Given the description of an element on the screen output the (x, y) to click on. 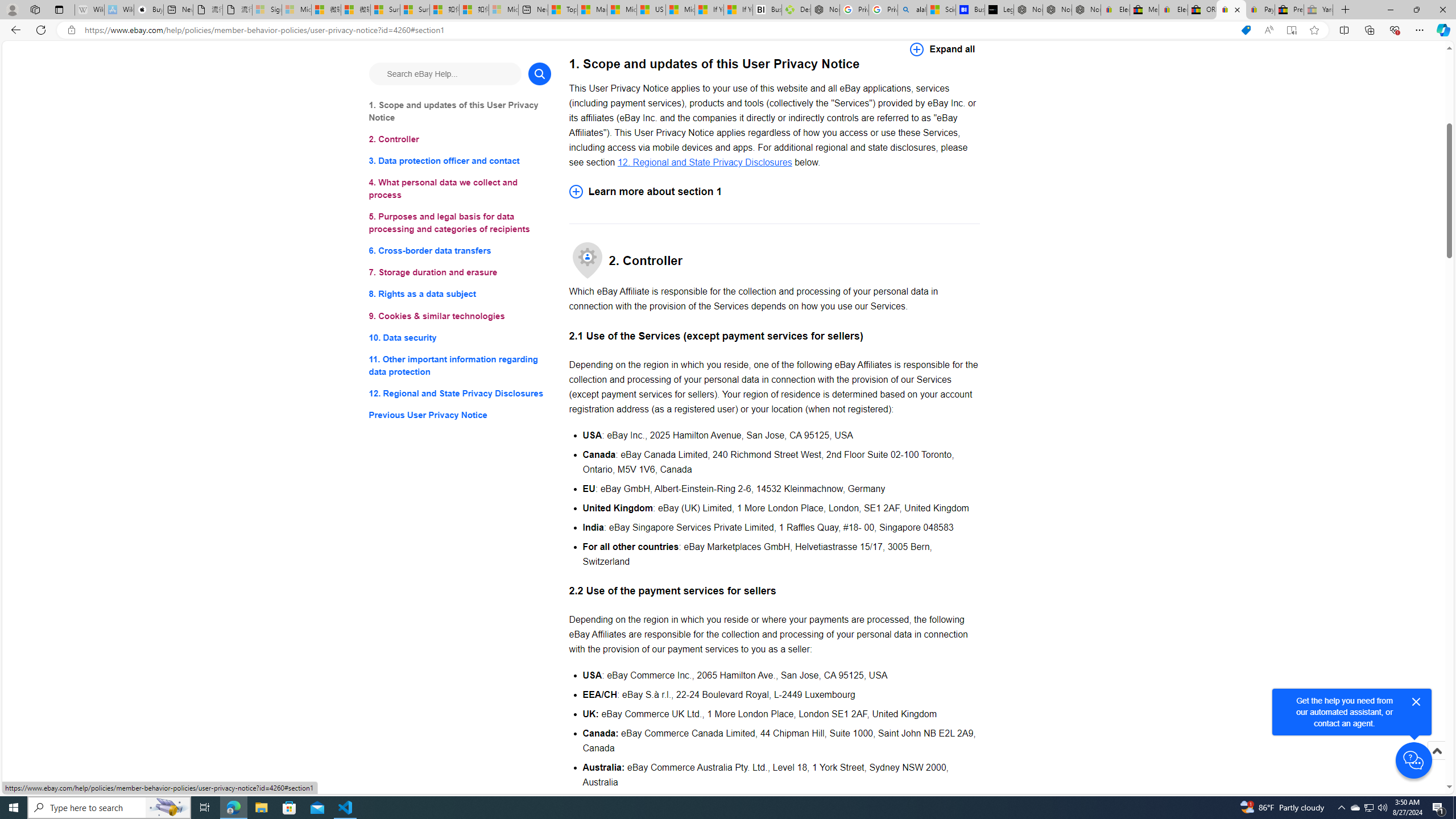
Wikipedia - Sleeping (89, 9)
Top Stories - MSN (562, 9)
Buy iPad - Apple (148, 9)
3. Data protection officer and contact (459, 160)
Marine life - MSN (591, 9)
7. Storage duration and erasure (459, 272)
Previous User Privacy Notice (459, 414)
10. Data security (459, 336)
6. Cross-border data transfers (459, 250)
